Given the description of an element on the screen output the (x, y) to click on. 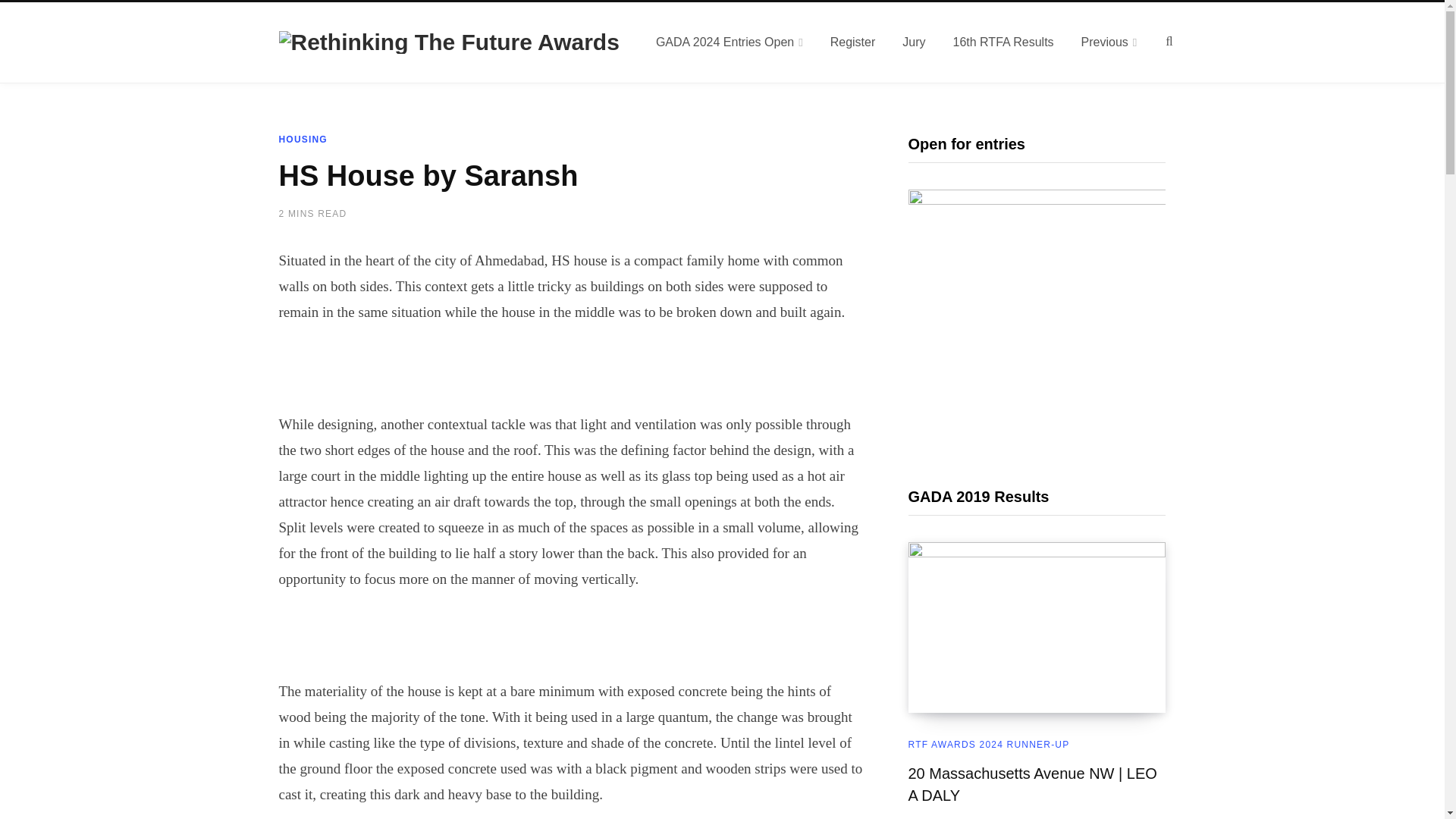
Register (852, 41)
Previous (1109, 41)
Rethinking The Future Awards (449, 42)
Jury (913, 41)
HOUSING (303, 139)
16th RTFA Results (1003, 41)
GADA 2024 Entries Open (729, 41)
